Given the description of an element on the screen output the (x, y) to click on. 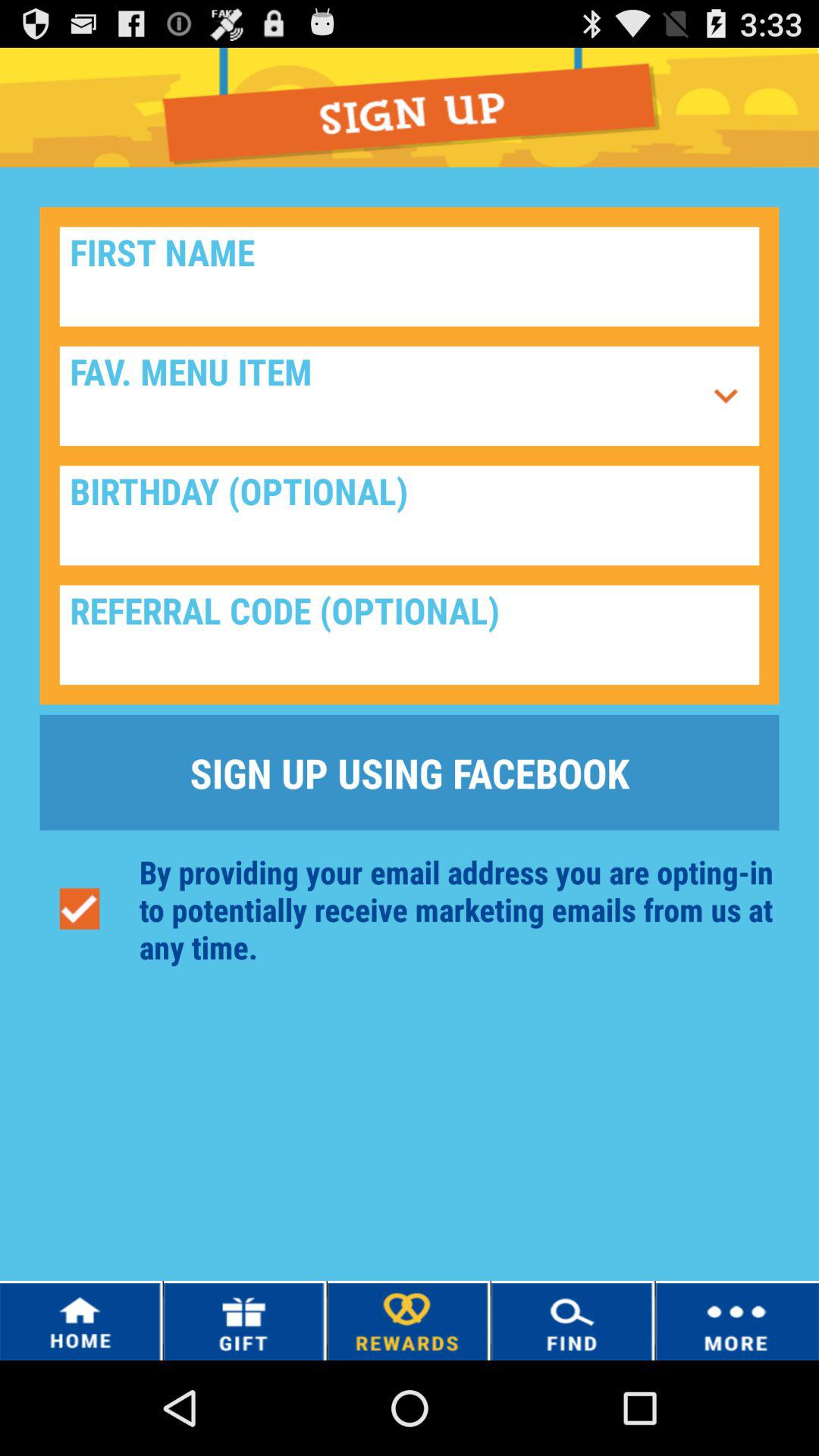
first name (409, 276)
